Given the description of an element on the screen output the (x, y) to click on. 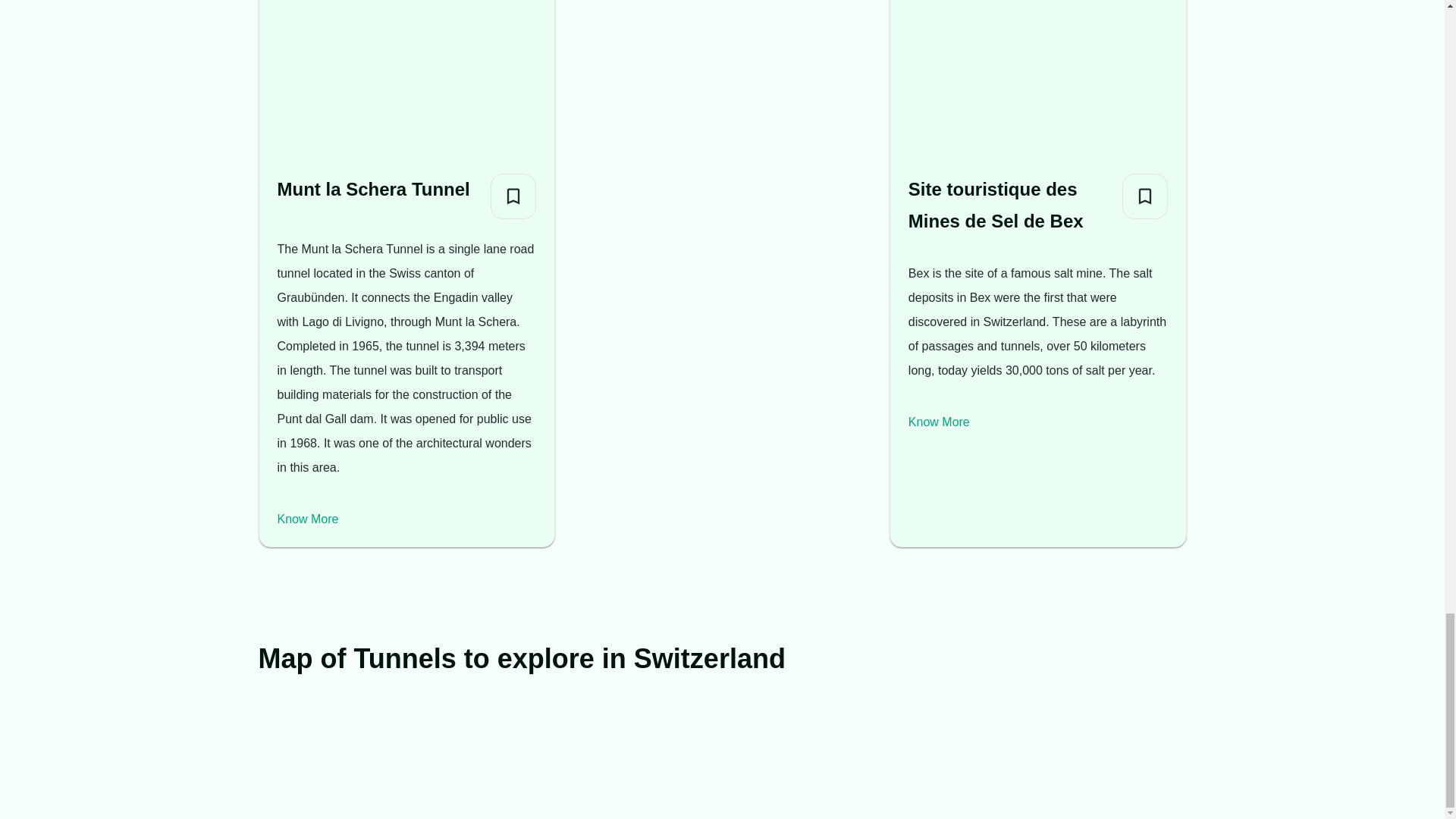
Know More (308, 518)
Add to Bucket List (1144, 196)
Add to Bucket List (512, 196)
Munt la Schera Tunnel (374, 189)
Know More (938, 421)
Site touristique des Mines de Sel de Bex (1008, 205)
